Given the description of an element on the screen output the (x, y) to click on. 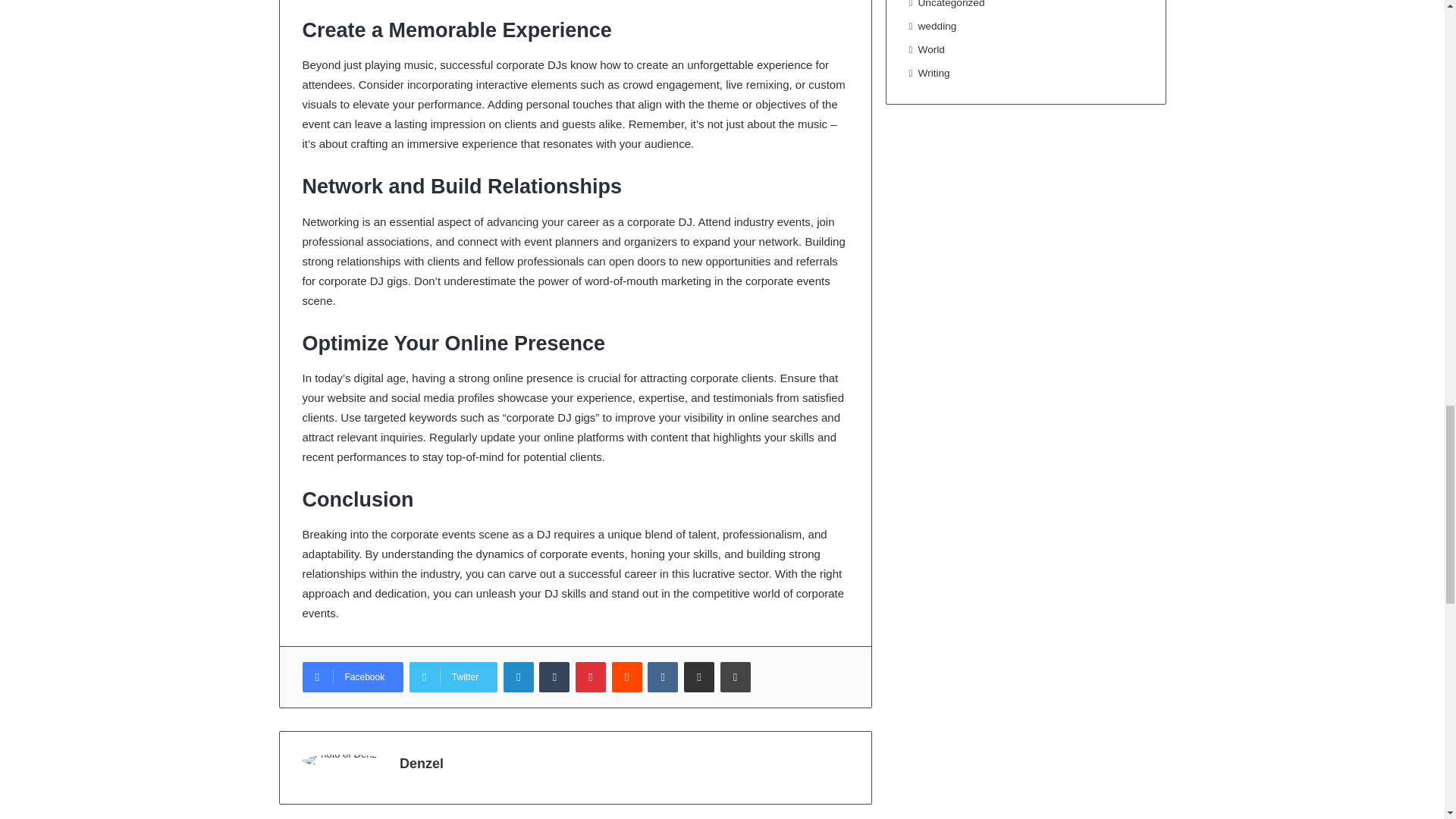
LinkedIn (518, 676)
VKontakte (662, 676)
Reddit (626, 676)
Pinterest (590, 676)
Print (735, 676)
LinkedIn (518, 676)
Print (735, 676)
Share via Email (699, 676)
VKontakte (662, 676)
Tumblr (553, 676)
Twitter (453, 676)
Reddit (626, 676)
Share via Email (699, 676)
Pinterest (590, 676)
Tumblr (553, 676)
